Given the description of an element on the screen output the (x, y) to click on. 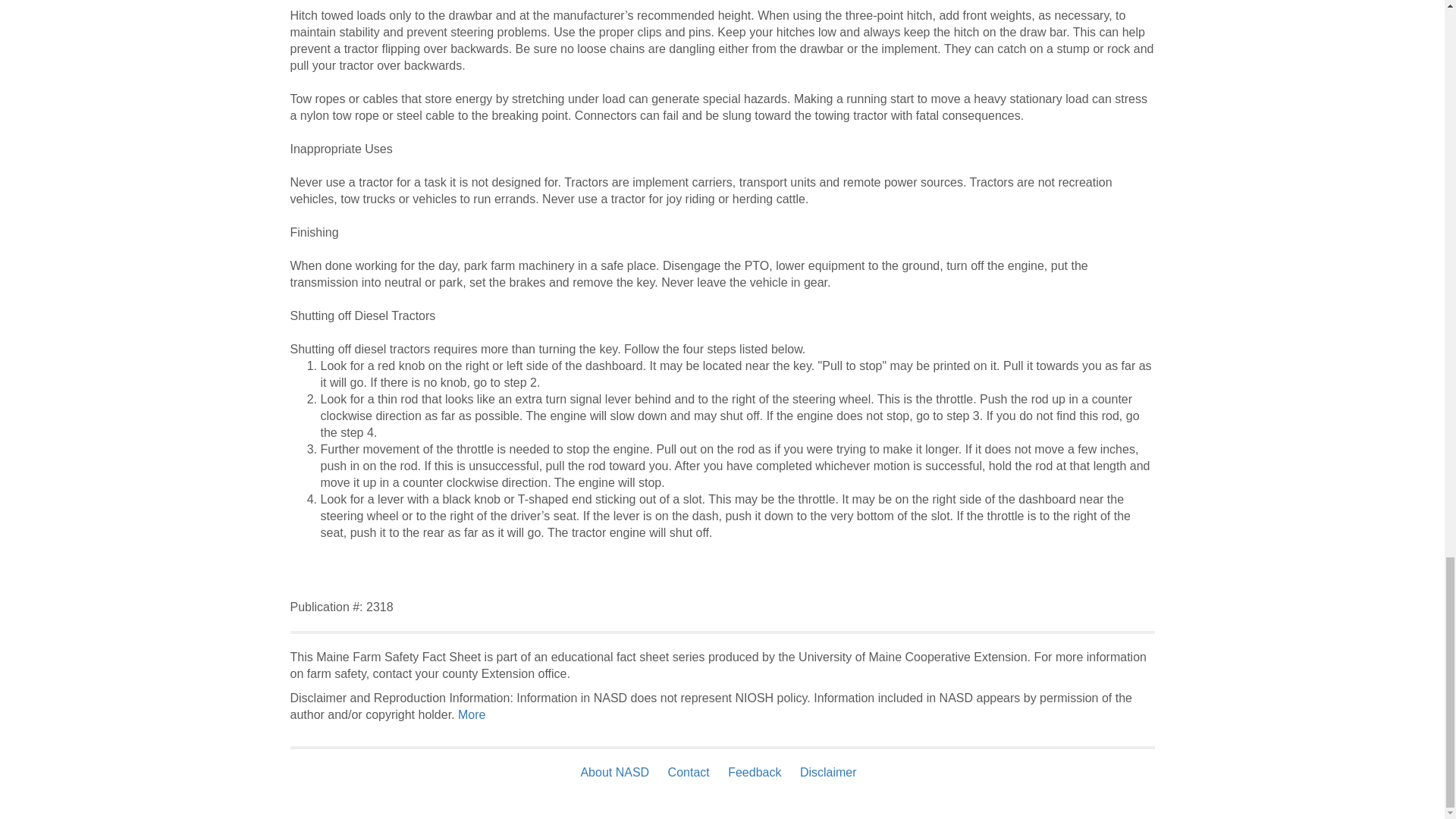
About NASD (617, 772)
More (471, 714)
Feedback (754, 772)
Disclaimer (828, 772)
Contact (689, 772)
